Given the description of an element on the screen output the (x, y) to click on. 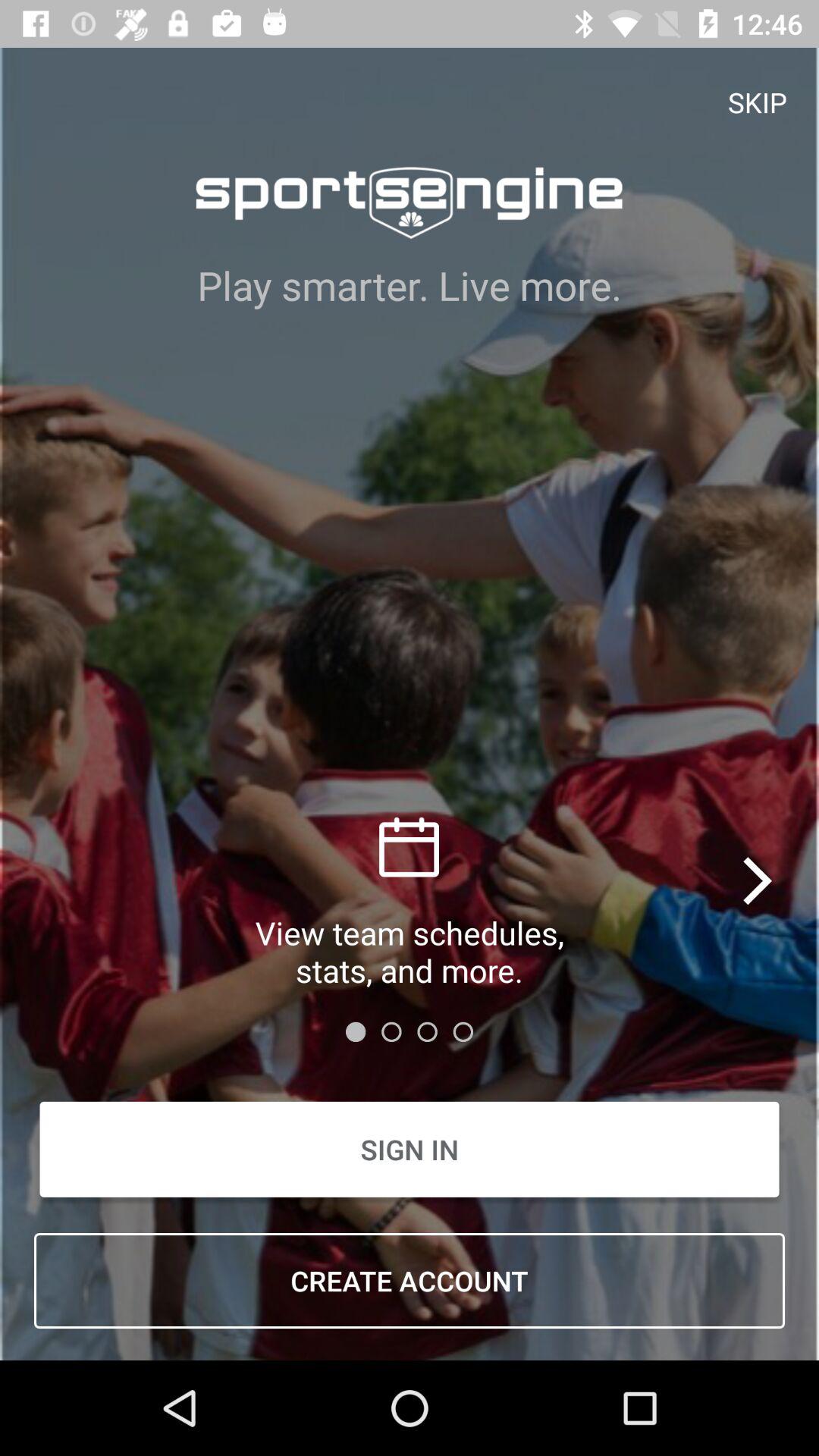
tap item to the right of the view team schedules icon (759, 880)
